Given the description of an element on the screen output the (x, y) to click on. 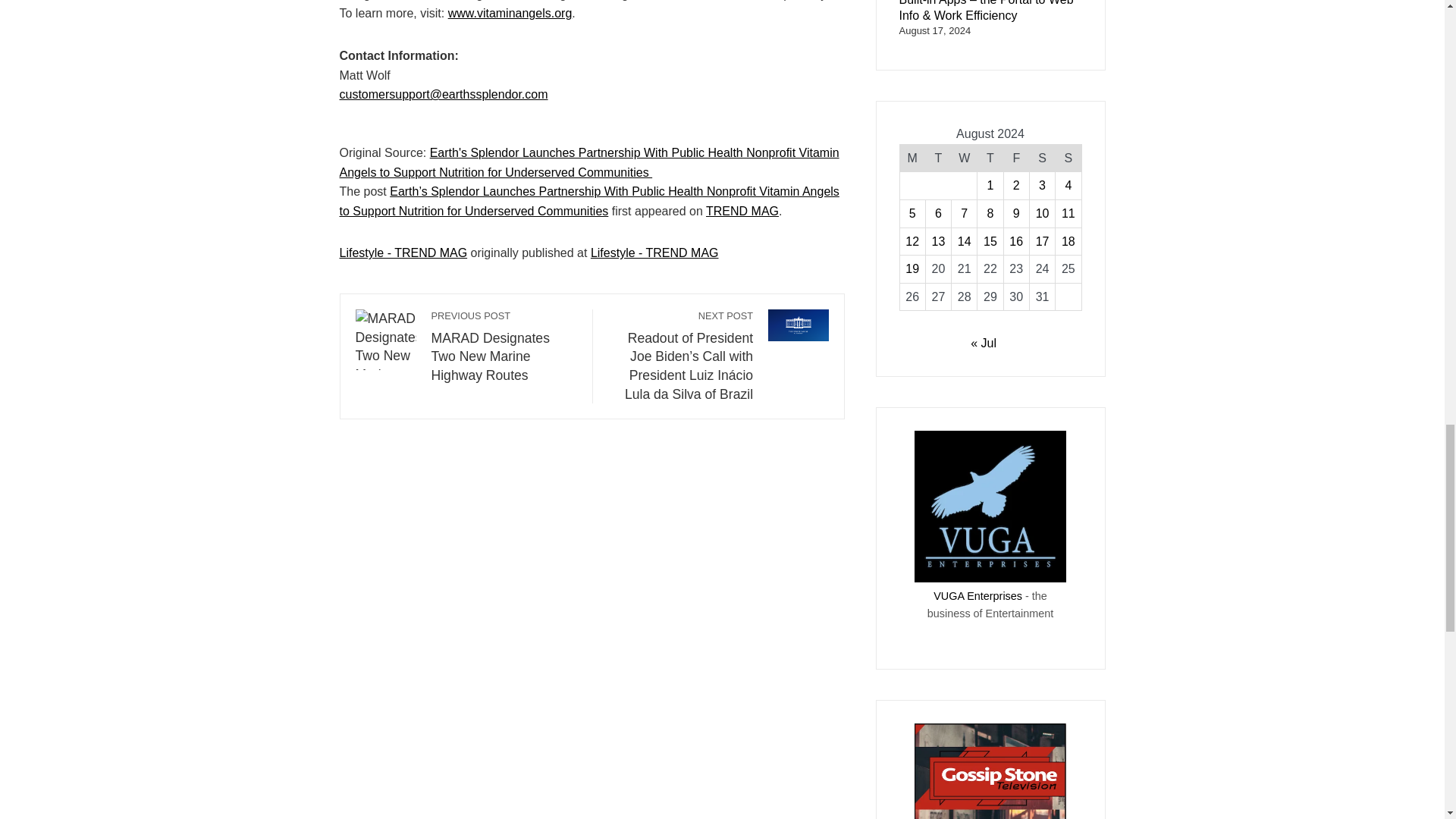
Lifestyle - TREND MAG (655, 252)
Lifestyle - TREND MAG (403, 252)
Saturday (1041, 157)
TREND MAG (742, 210)
Sunday (1068, 157)
MARAD Designates Two New Marine Highway Routes (384, 339)
Monday (911, 157)
www.vitaminangels.org (510, 12)
Thursday (989, 157)
Tuesday (937, 157)
